Given the description of an element on the screen output the (x, y) to click on. 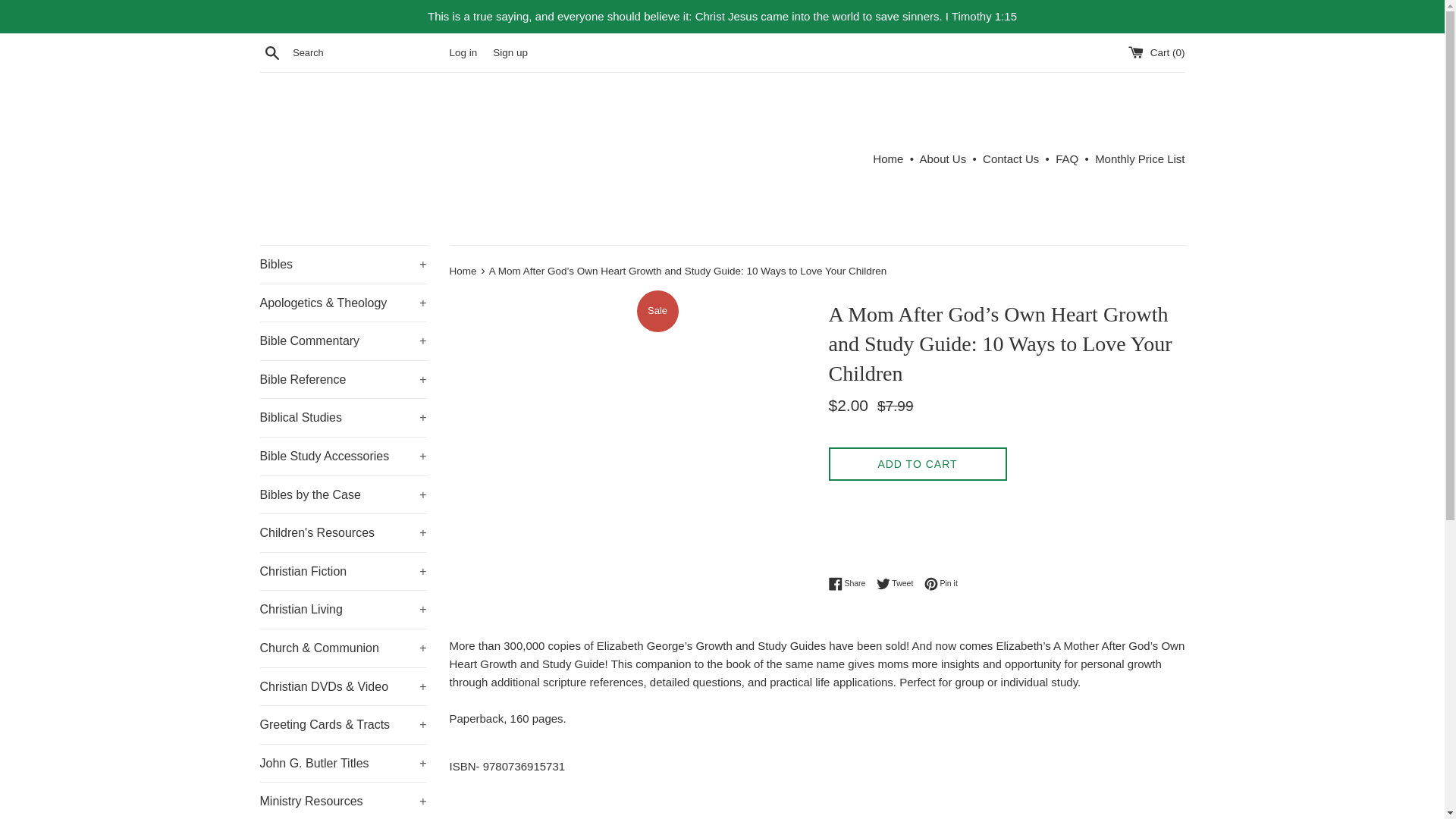
Home (887, 158)
Sign up (510, 52)
Monthly Price List (1139, 158)
Contact Us (1010, 158)
About Us (942, 158)
Tweet on Twitter (898, 583)
Back to the frontpage (463, 270)
Pin on Pinterest (941, 583)
Log in (462, 52)
Search (271, 52)
FAQ (1066, 158)
Share on Facebook (850, 583)
